Given the description of an element on the screen output the (x, y) to click on. 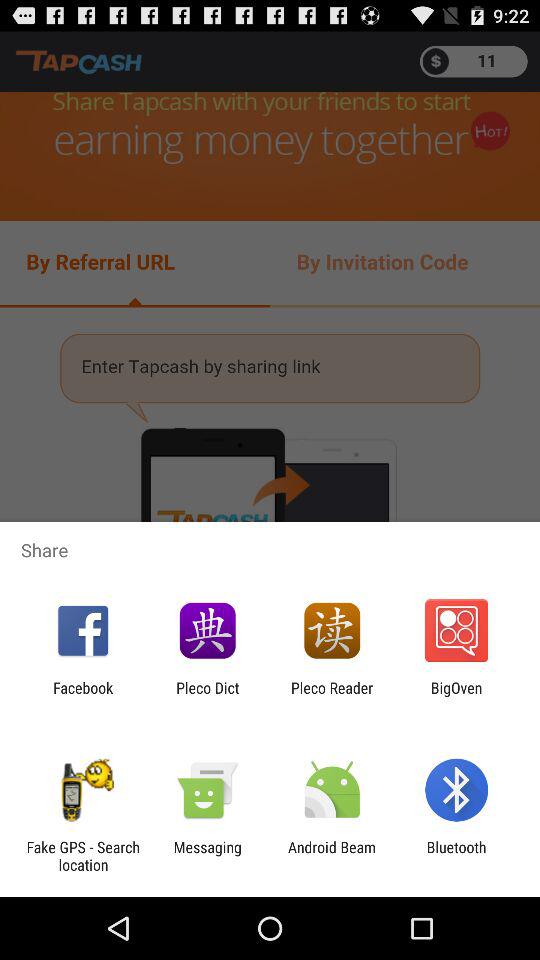
tap the app next to the messaging icon (332, 856)
